Given the description of an element on the screen output the (x, y) to click on. 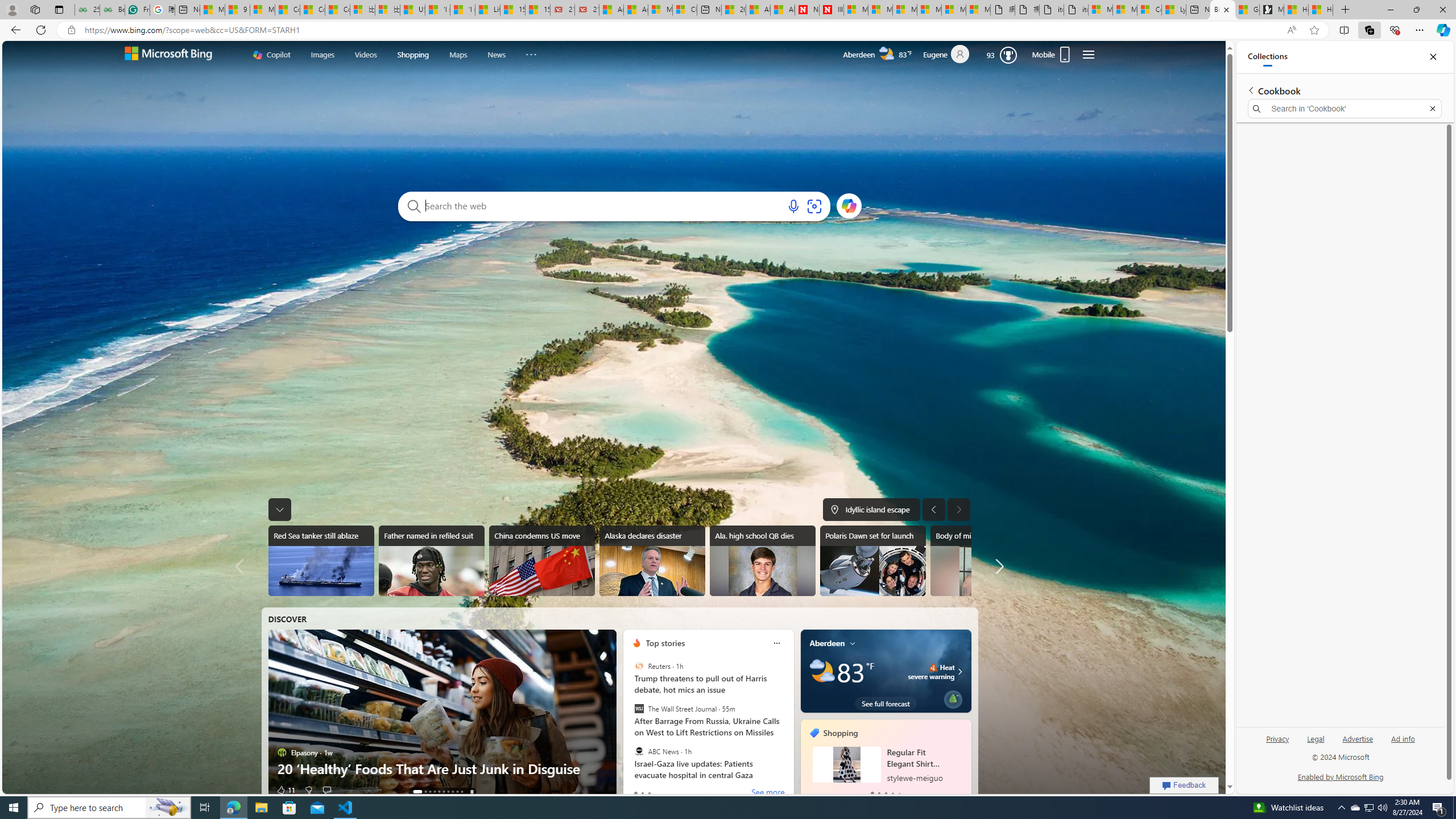
Previous image (932, 508)
More (530, 51)
Mobile (1053, 54)
Images (322, 53)
Copilot (272, 54)
